Given the description of an element on the screen output the (x, y) to click on. 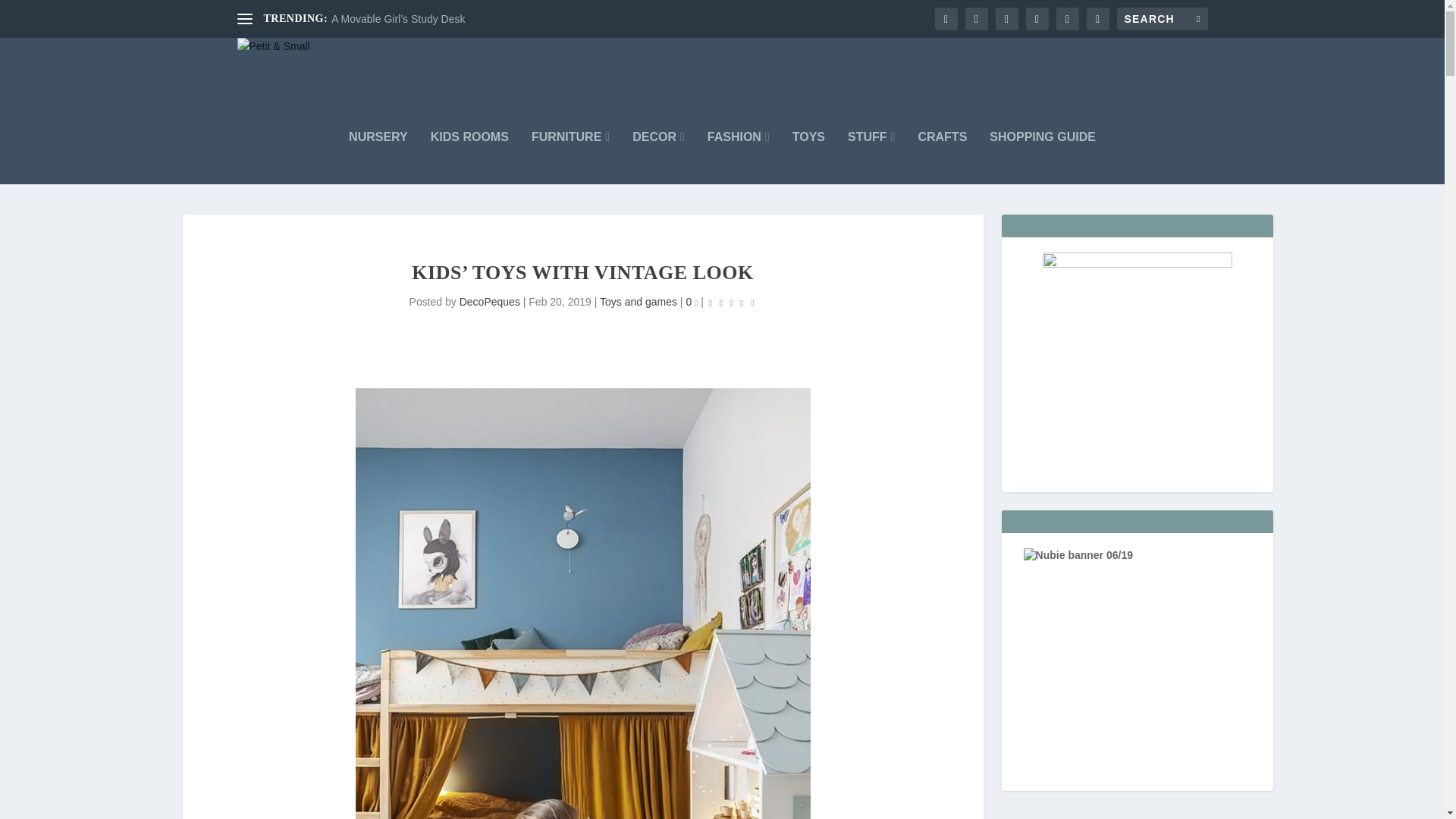
KIDS ROOMS (469, 157)
Rating: 4.50 (731, 302)
DECOR (657, 157)
Search for: (1161, 18)
Posts by DecoPeques (489, 301)
FASHION (738, 157)
NURSERY (378, 157)
FURNITURE (570, 157)
